Given the description of an element on the screen output the (x, y) to click on. 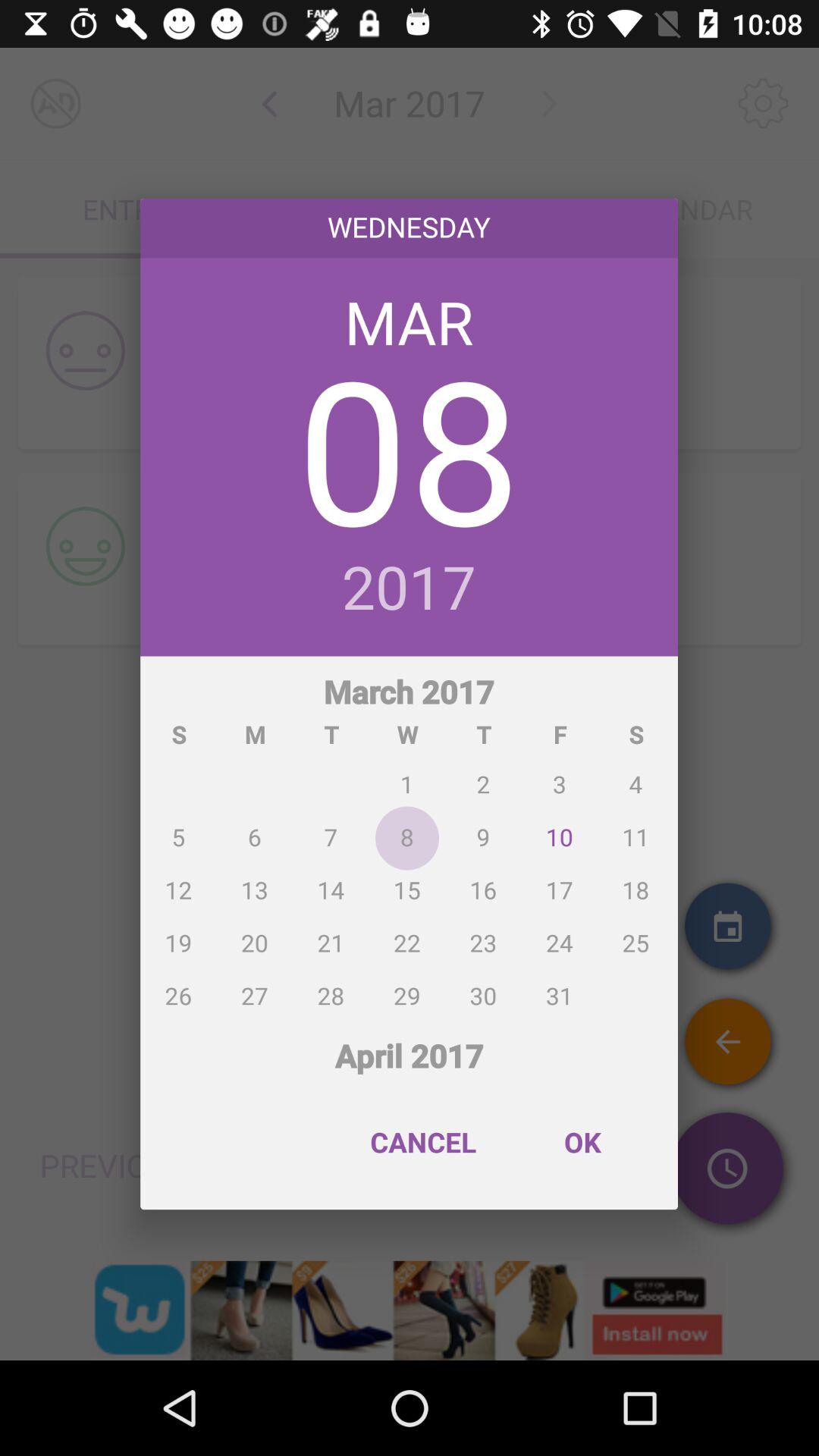
press the button next to the cancel (582, 1141)
